Given the description of an element on the screen output the (x, y) to click on. 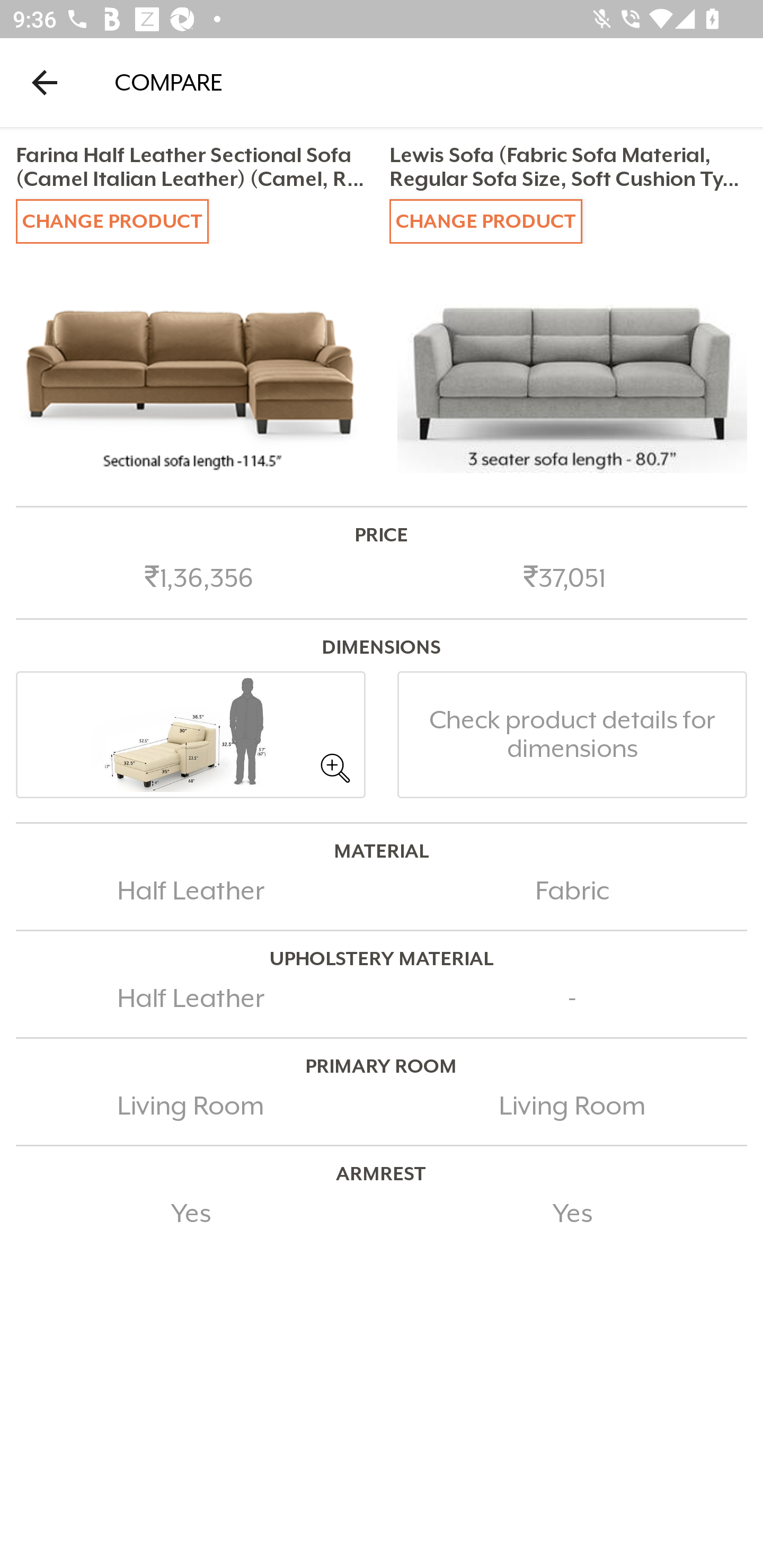
Navigate up (44, 82)
CHANGE PRODUCT (112, 221)
CHANGE PRODUCT (485, 221)
